Given the description of an element on the screen output the (x, y) to click on. 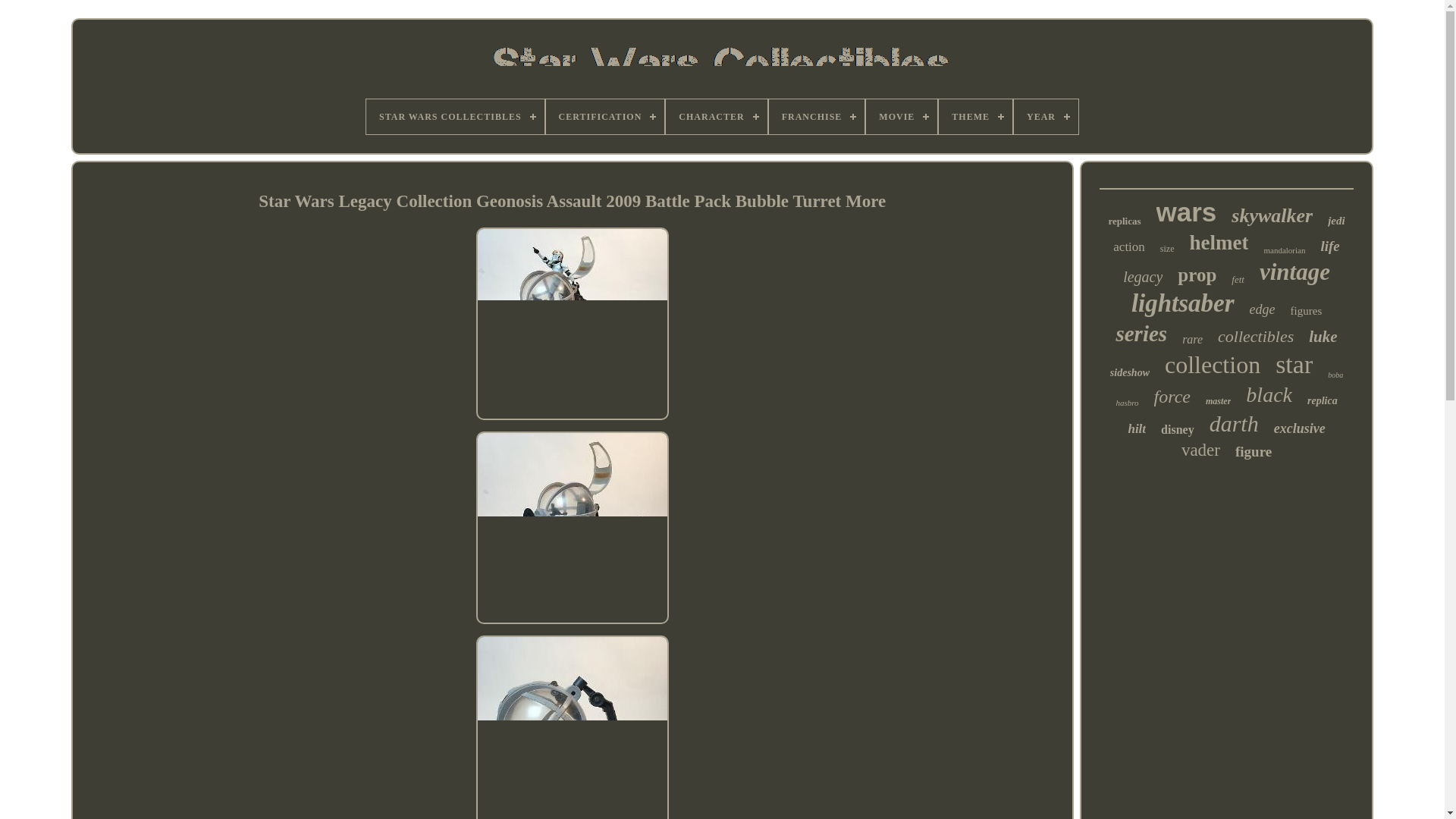
STAR WARS COLLECTIBLES (455, 116)
FRANCHISE (816, 116)
CHARACTER (716, 116)
CERTIFICATION (605, 116)
